Given the description of an element on the screen output the (x, y) to click on. 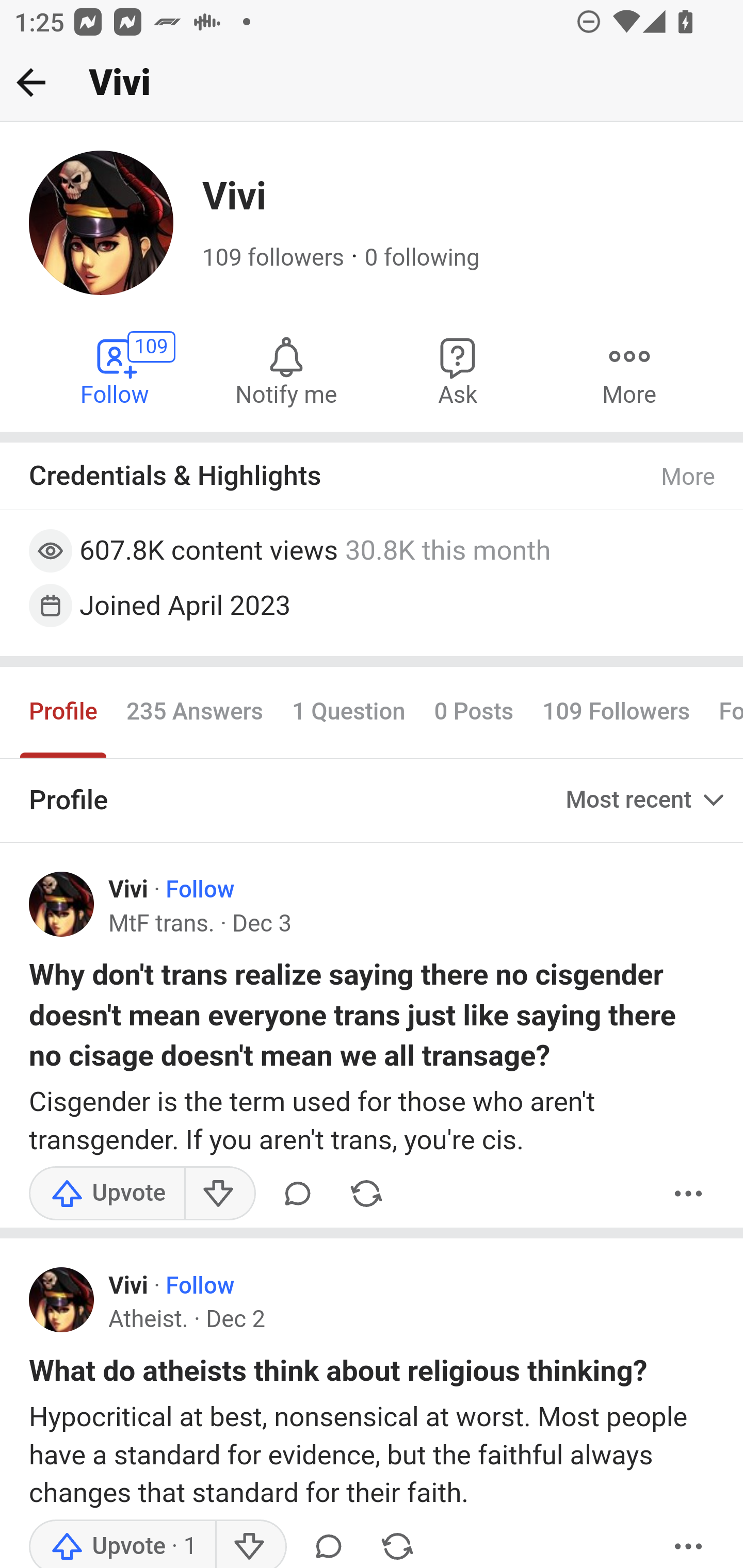
Back (30, 82)
109 followers (273, 257)
0 following (421, 257)
Follow Vivi 109 Follow (115, 370)
Notify me (285, 370)
Ask (458, 370)
More (628, 370)
More (688, 477)
Profile (63, 712)
235 Answers (193, 712)
1 Question (348, 712)
0 Posts (474, 712)
109 Followers (616, 712)
Most recent (647, 799)
Profile photo for Vivi (61, 903)
Vivi (127, 889)
Follow (199, 889)
Upvote (106, 1193)
Downvote (219, 1193)
Comment (297, 1193)
Share (366, 1193)
More (688, 1193)
Profile photo for Vivi (61, 1299)
Vivi (127, 1286)
Follow (199, 1286)
Upvote (122, 1543)
Downvote (249, 1543)
Comment (328, 1543)
Share (397, 1543)
More (688, 1543)
